Given the description of an element on the screen output the (x, y) to click on. 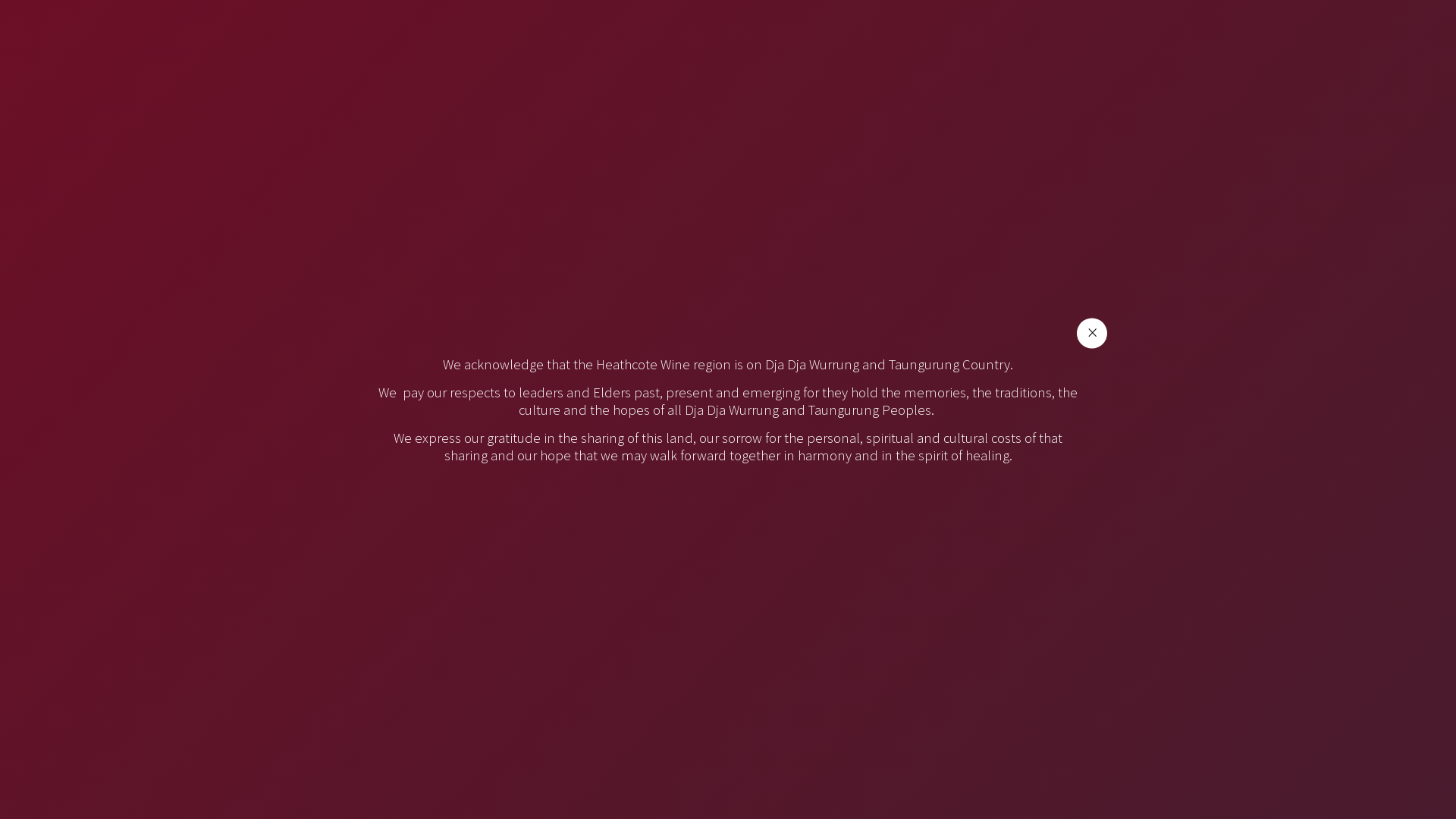
Merindoc Cellar Door & Bistro Element type: text (933, 602)
Merindoc Cellar Door & Bistro Element type: text (832, 596)
Devil's Cave Vineyard Element type: text (846, 432)
Sanguine Estate Element type: text (1121, 688)
Tellurian Element type: text (767, 789)
Sanguine Estate Element type: text (777, 688)
Meehan Vineyard Element type: text (868, 498)
Condie Estate Element type: text (767, 336)
